Given the description of an element on the screen output the (x, y) to click on. 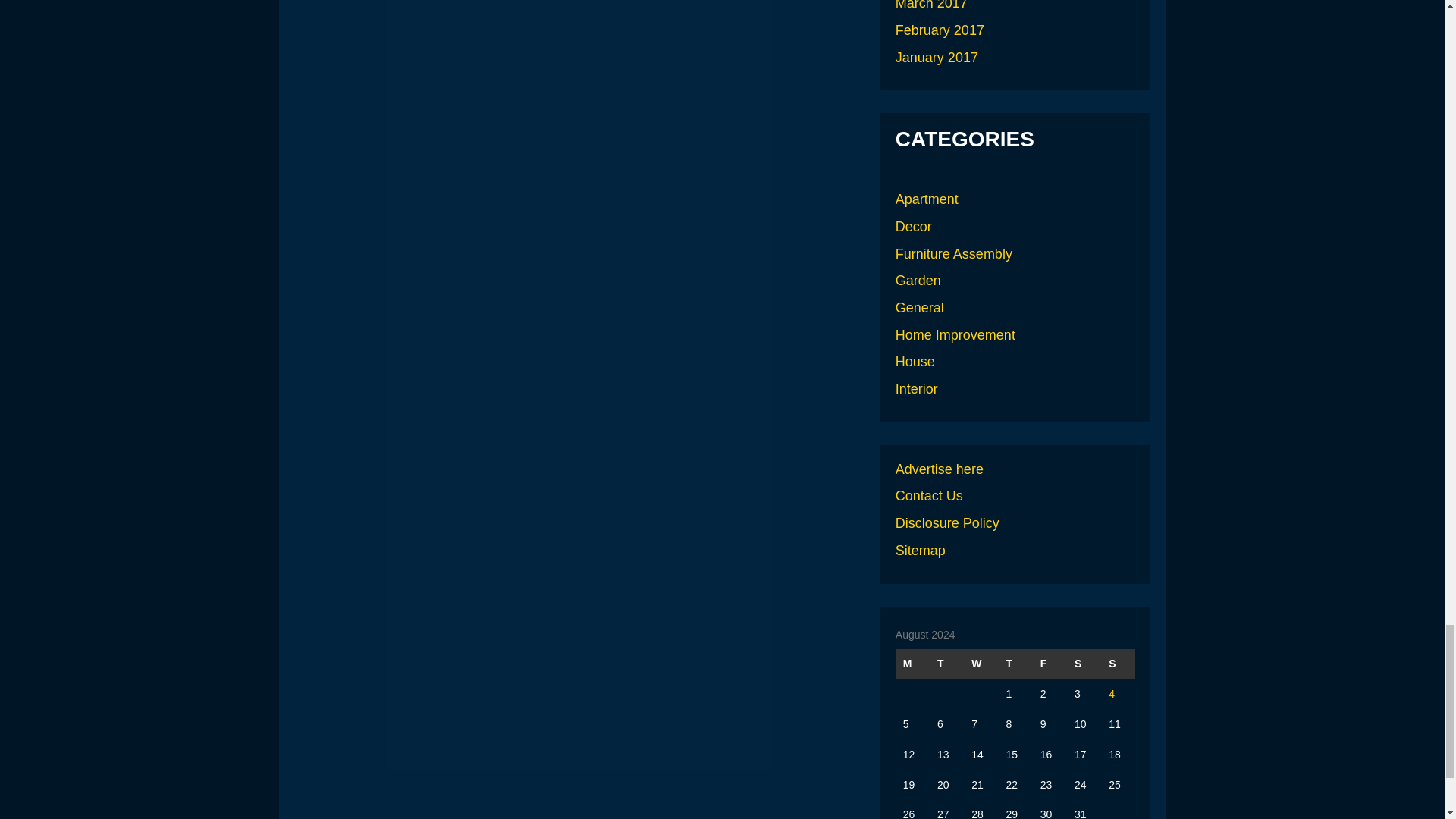
Thursday (1015, 664)
Monday (912, 664)
Saturday (1083, 664)
Friday (1049, 664)
Sunday (1117, 664)
Tuesday (946, 664)
Wednesday (980, 664)
